Given the description of an element on the screen output the (x, y) to click on. 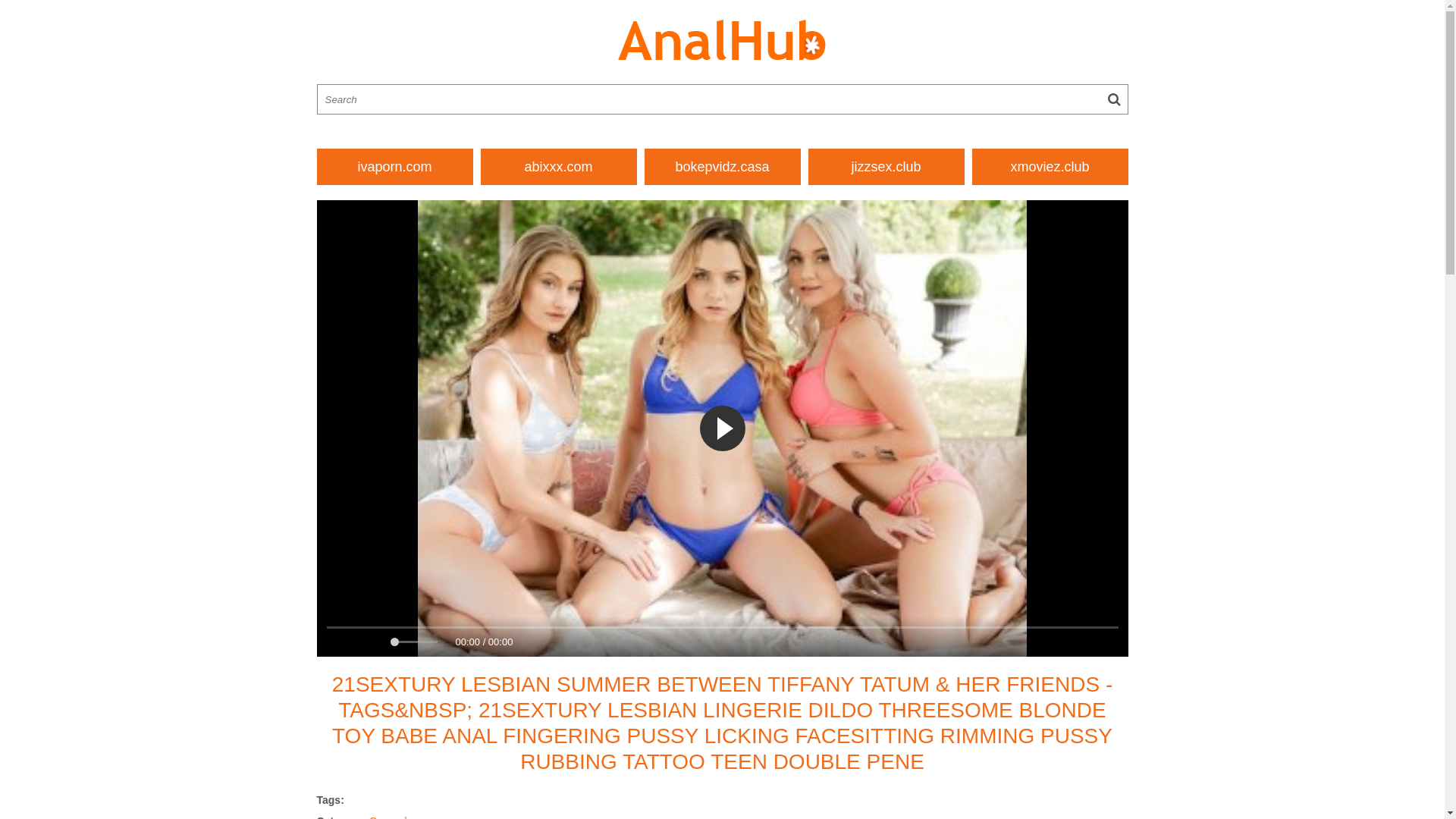
bokepvidz.casa Element type: text (722, 166)
ivaporn.com Element type: text (394, 166)
xmoviez.club Element type: text (1050, 166)
jizzsex.club Element type: text (886, 166)
abixxx.com Element type: text (558, 166)
